Given the description of an element on the screen output the (x, y) to click on. 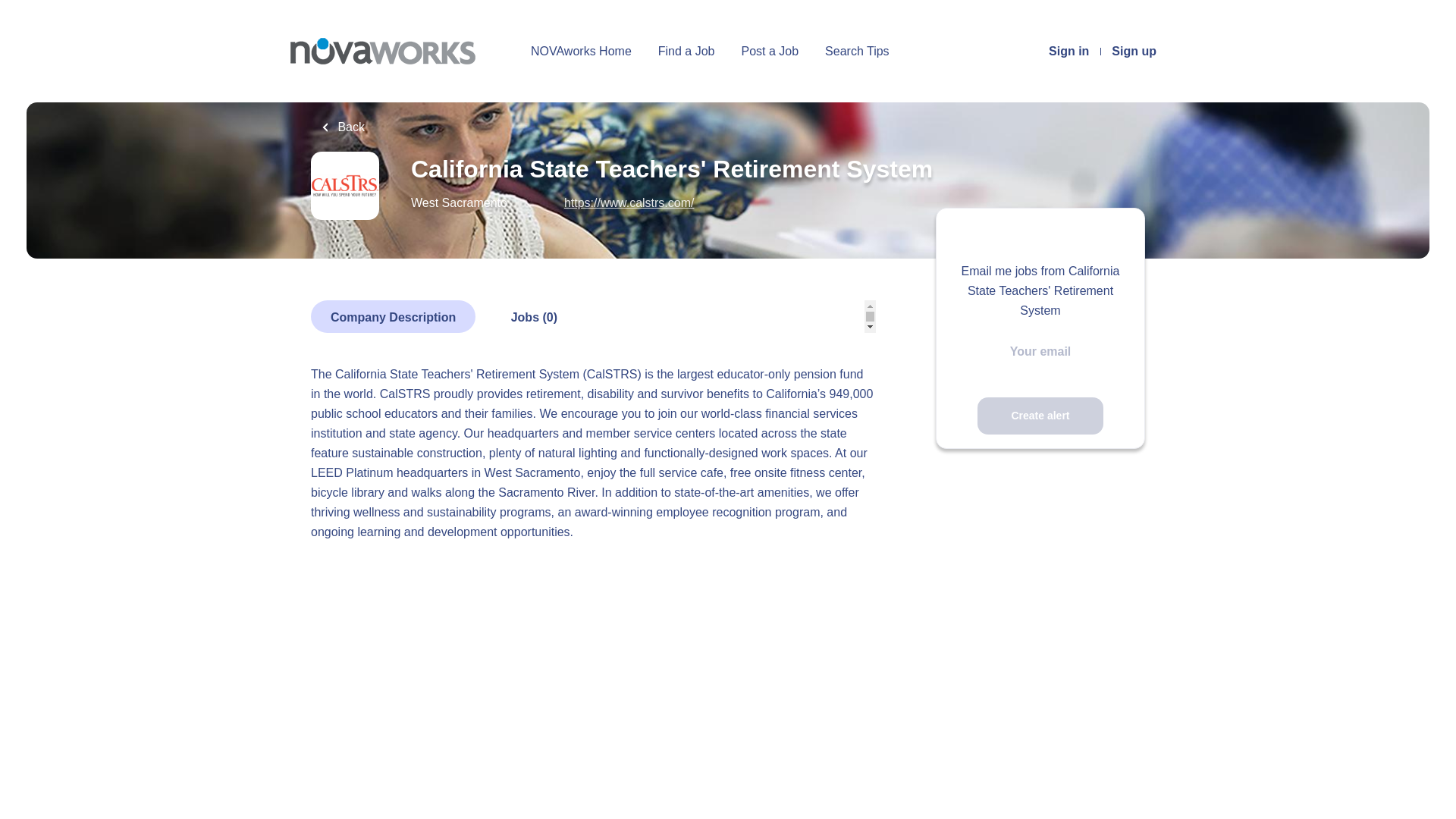
Back (343, 127)
Find a Job (686, 51)
Search Tips (856, 51)
Post a Job (770, 51)
Create alert (1039, 415)
Sign in (1068, 51)
Company Description (393, 316)
Sign up (1134, 51)
NOVAworks Home (581, 51)
Create alert (1039, 415)
